Given the description of an element on the screen output the (x, y) to click on. 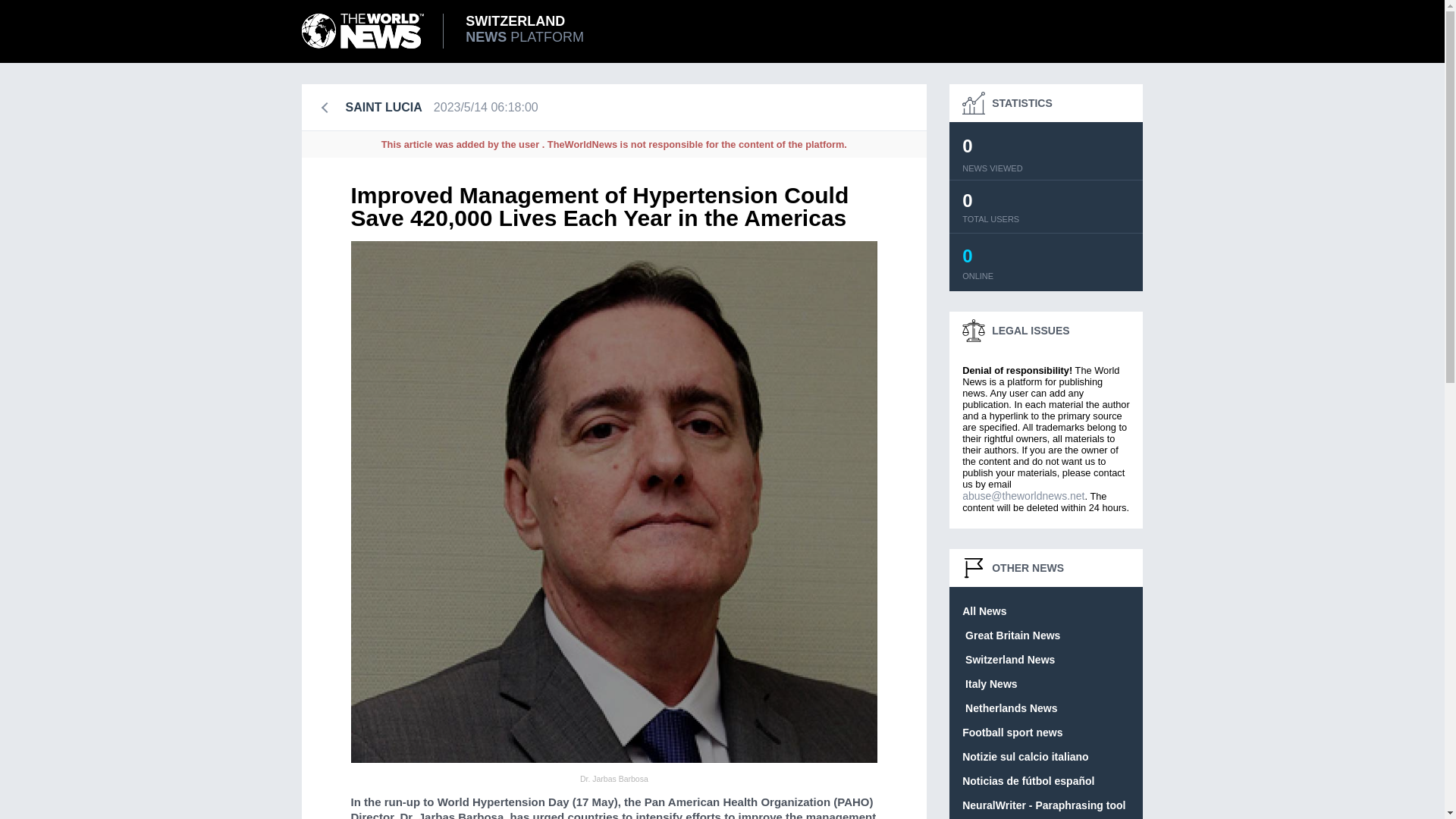
Notizie sul calcio italiano (1024, 756)
Switzerland News (1008, 659)
NeuralWriter - Paraphrasing tool (454, 30)
Netherlands News (1043, 805)
All News (1009, 708)
Football sport news (984, 611)
Great Britain News (1012, 732)
Italy News (1010, 635)
